Given the description of an element on the screen output the (x, y) to click on. 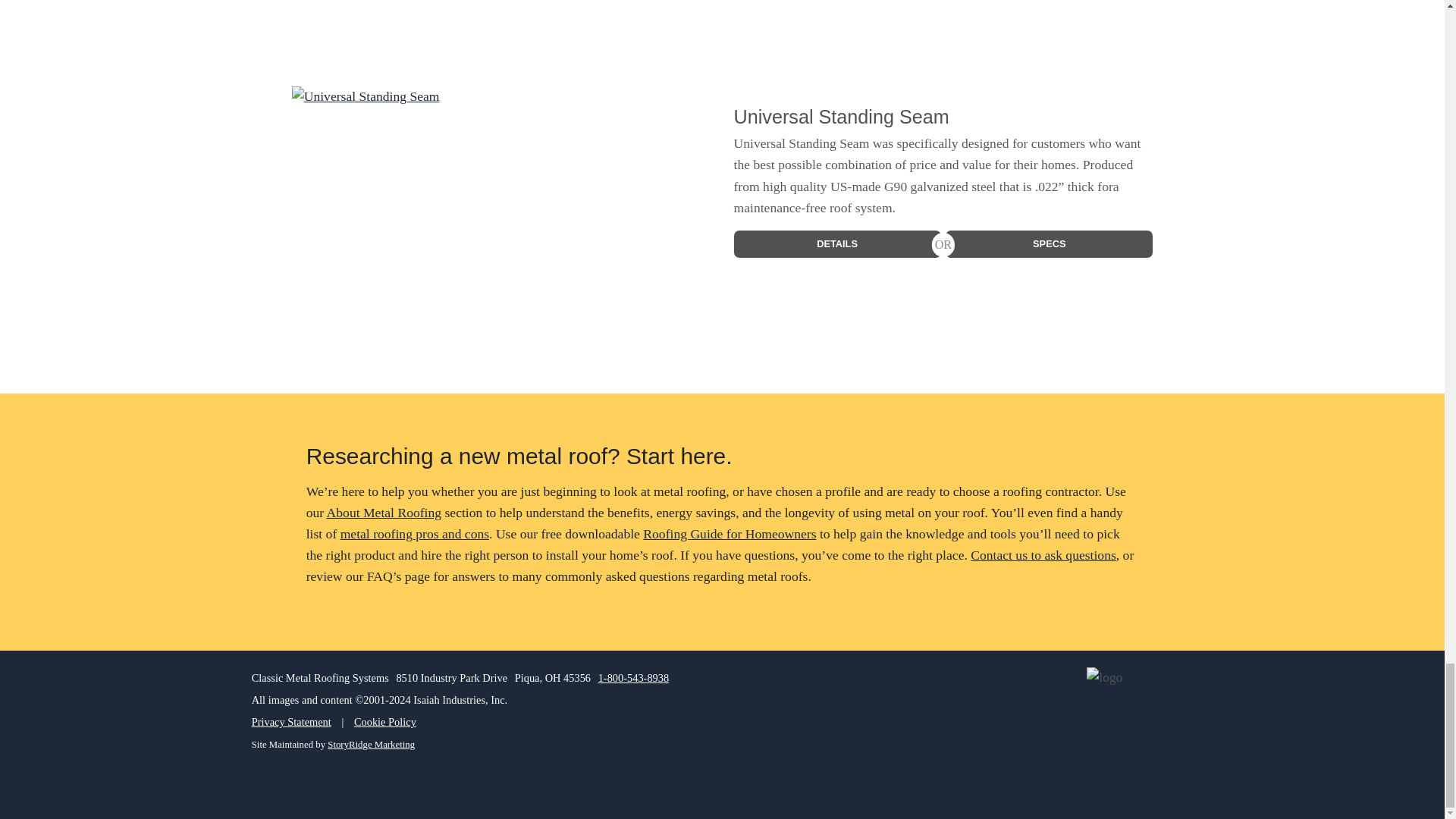
Learn more about our Cookie Policy (384, 721)
Learn more about our privacy policy (291, 721)
